Given the description of an element on the screen output the (x, y) to click on. 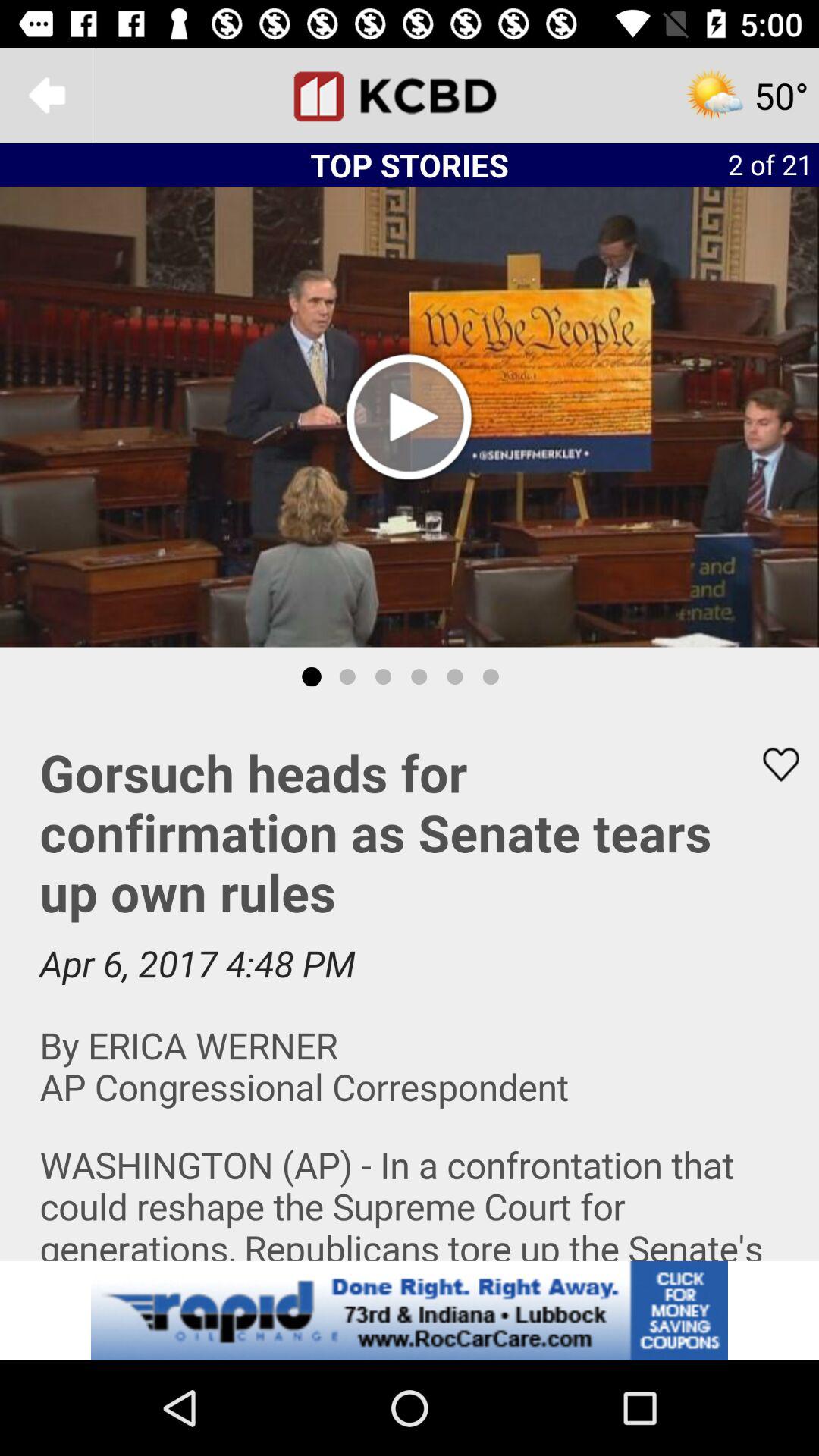
open advertisement (409, 1310)
